Given the description of an element on the screen output the (x, y) to click on. 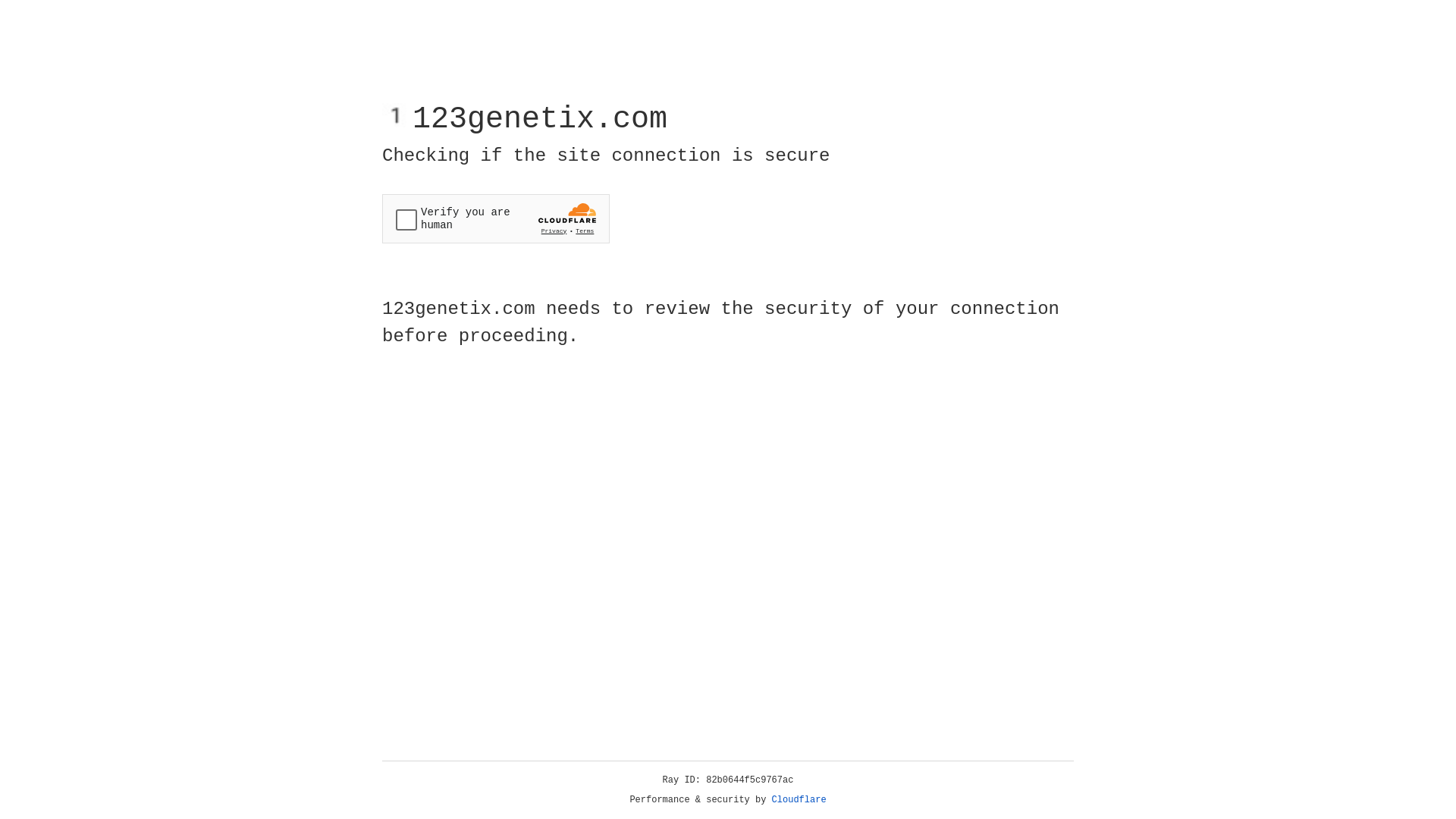
Widget containing a Cloudflare security challenge Element type: hover (495, 218)
Cloudflare Element type: text (798, 799)
